Given the description of an element on the screen output the (x, y) to click on. 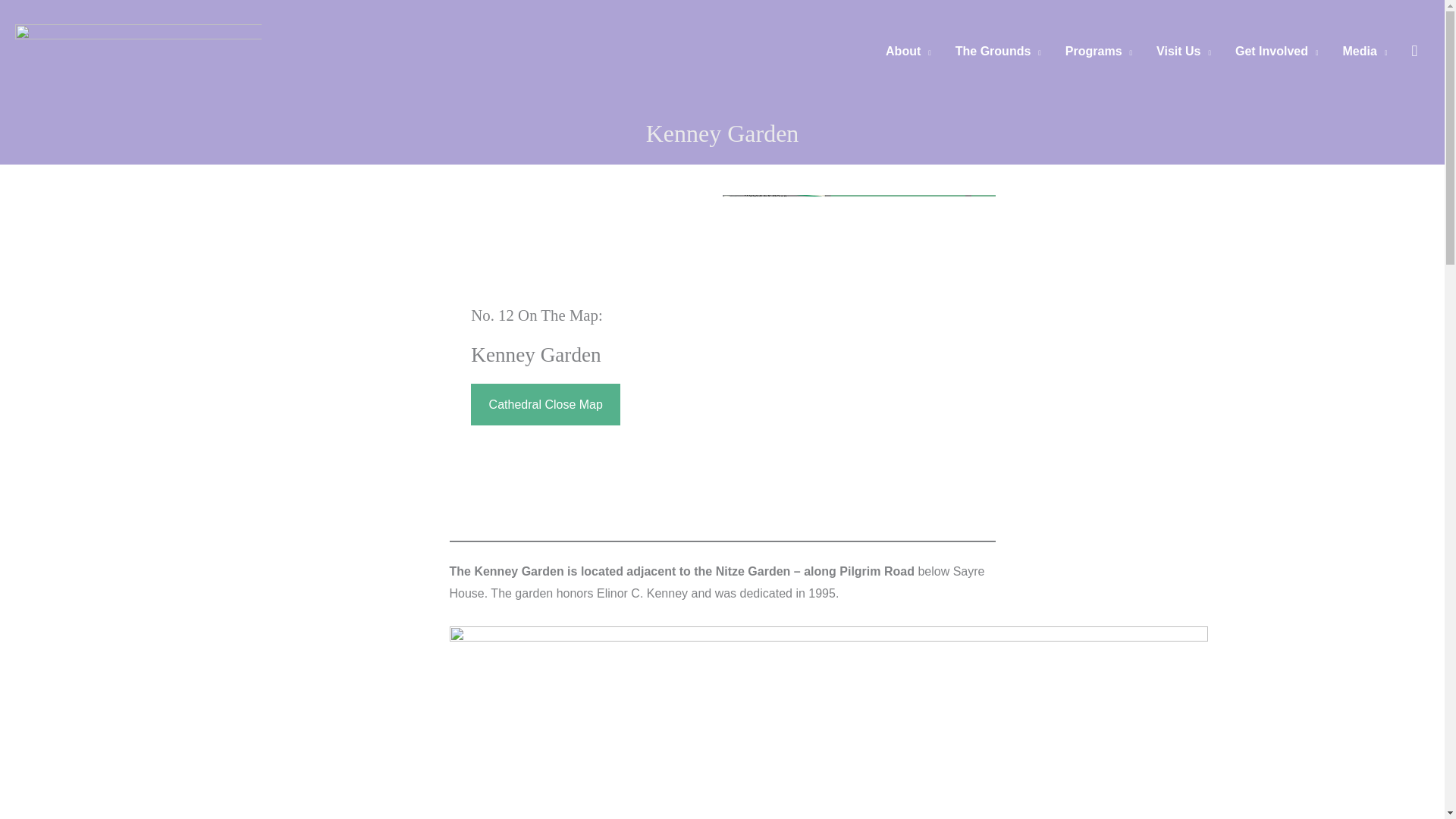
Programs (1098, 51)
Visit Us (1183, 51)
Search (1413, 50)
The Grounds (997, 51)
Get Involved (1276, 51)
Media (1364, 51)
About (908, 51)
